Given the description of an element on the screen output the (x, y) to click on. 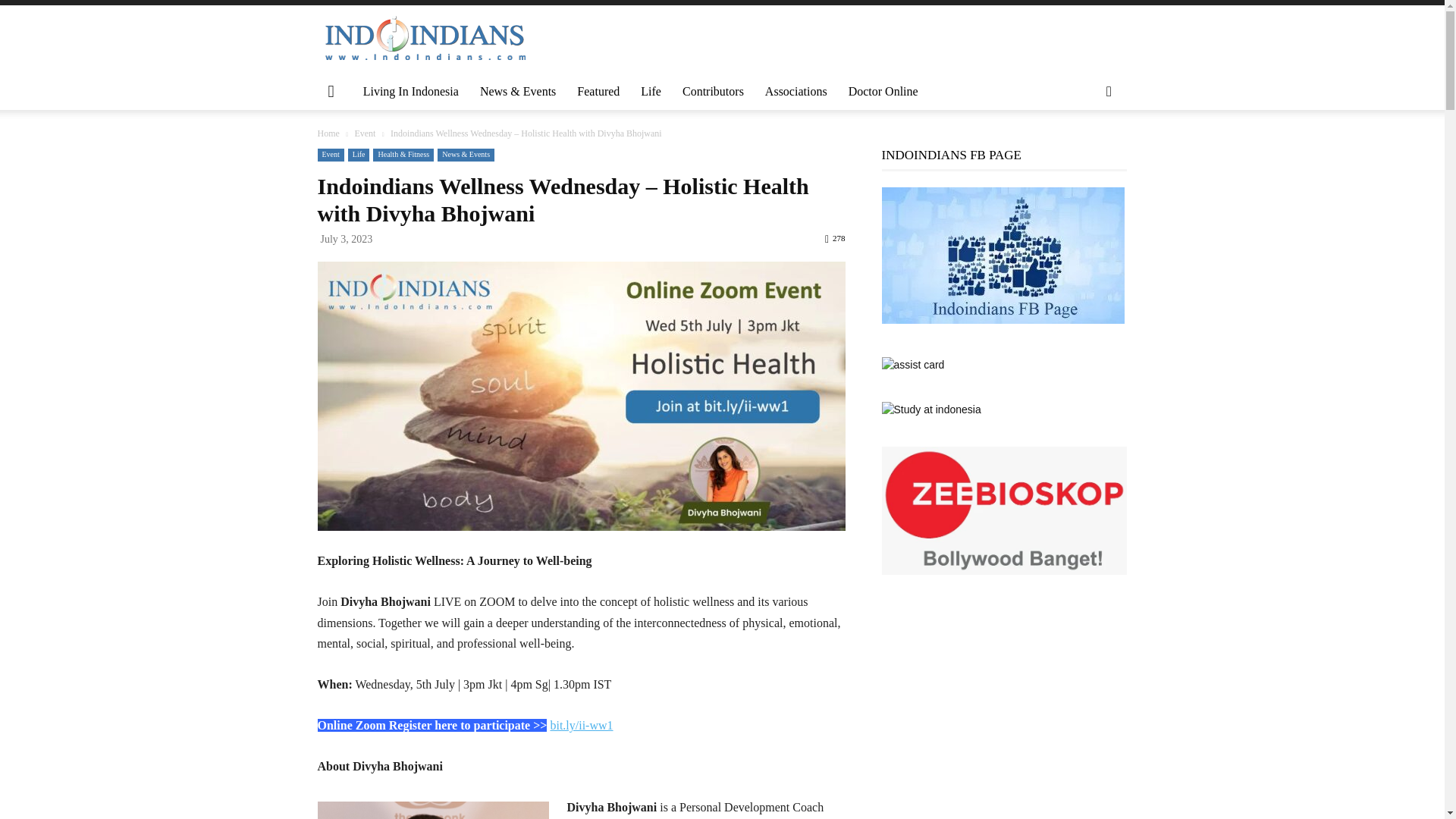
LOGO INDOINDIANS (424, 39)
View all posts in Event (364, 132)
